Given the description of an element on the screen output the (x, y) to click on. 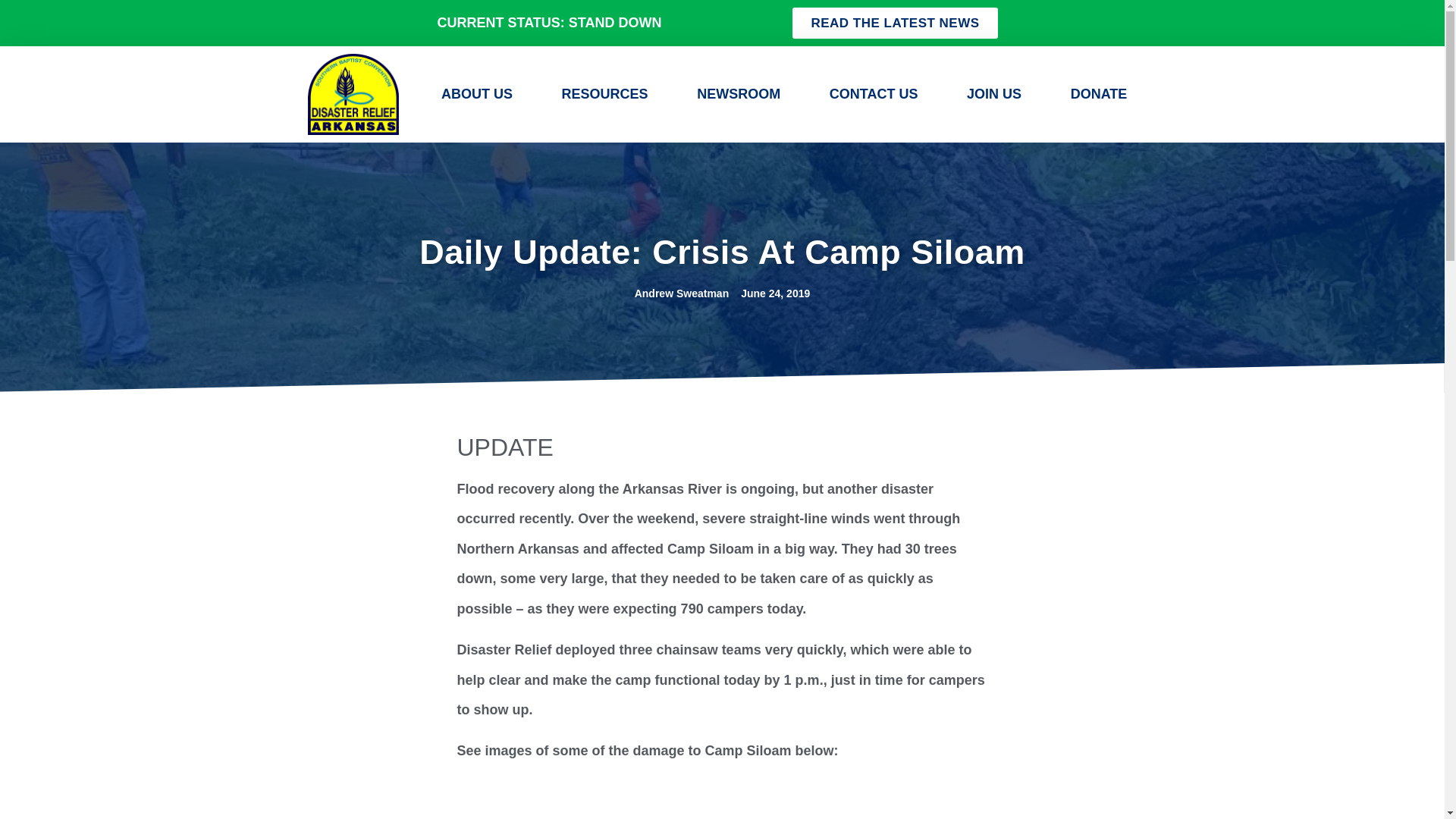
JOIN US (994, 93)
DONATE (1098, 93)
ABOUT US (476, 93)
RESOURCES (604, 93)
READ THE LATEST NEWS (894, 22)
CONTACT US (873, 93)
NEWSROOM (738, 93)
